Given the description of an element on the screen output the (x, y) to click on. 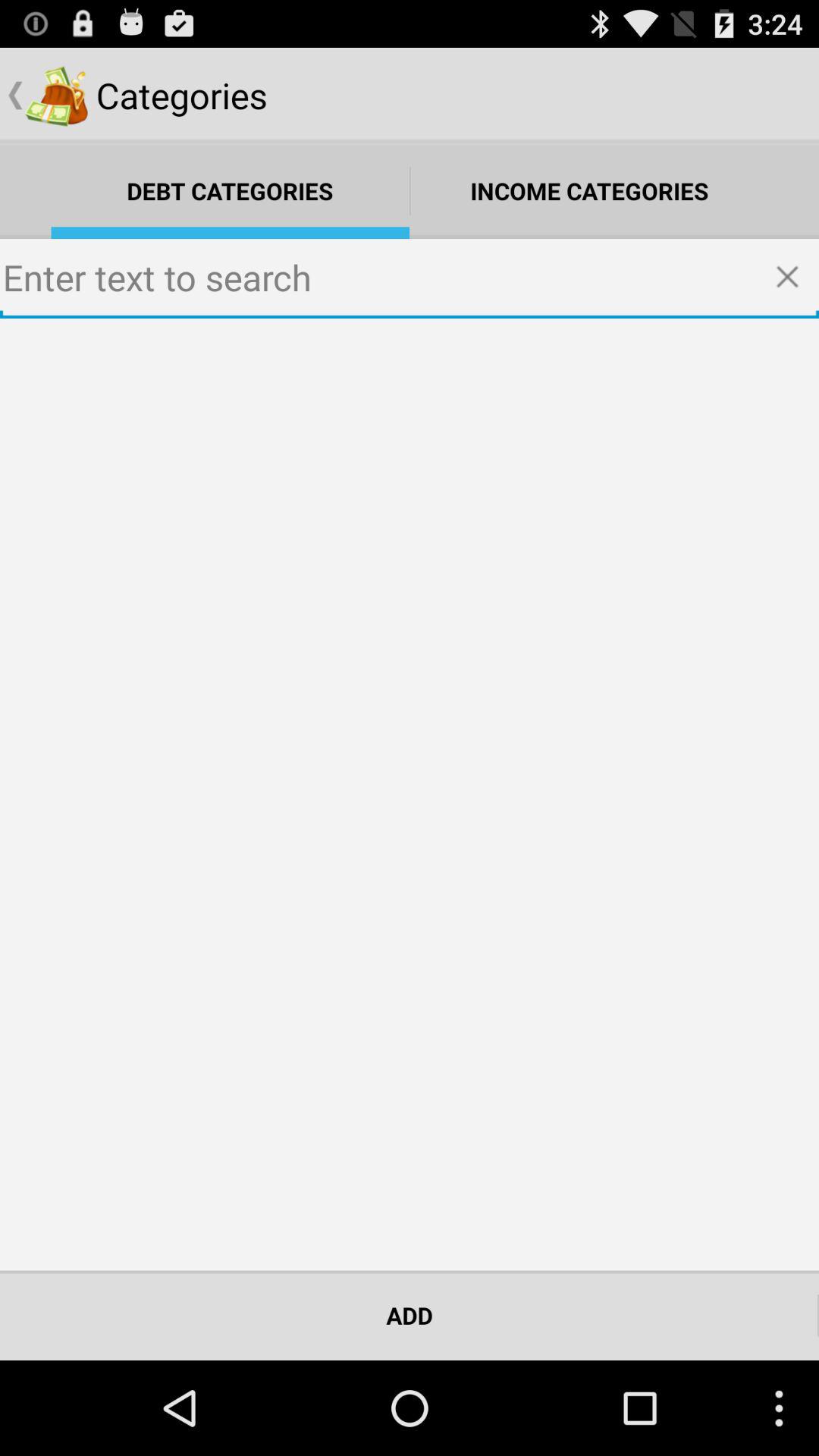
enter text (409, 278)
